Given the description of an element on the screen output the (x, y) to click on. 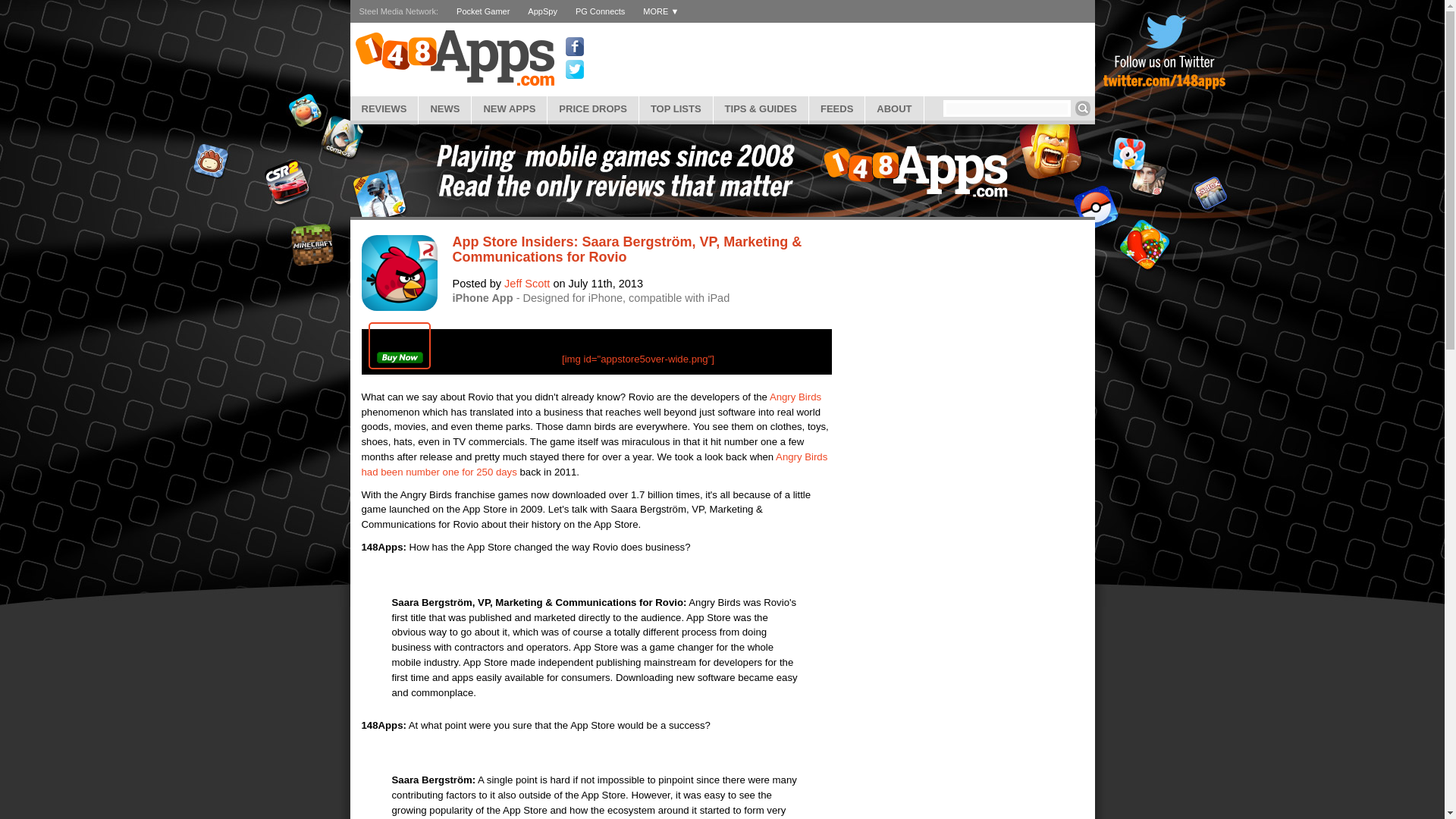
NEW APPS (509, 108)
Feeds (836, 108)
About (893, 108)
Top iPhone and iPad Apps and games (676, 108)
iPhone App Reviews (384, 108)
iPhone App Price Drops (593, 108)
REVIEWS (384, 108)
Angry Birds (795, 396)
FREE! (399, 345)
Tips and guides (760, 108)
PRICE DROPS (593, 108)
TOP LISTS (676, 108)
Click to go back to the home page (453, 57)
ABOUT (893, 108)
iPhone News (444, 108)
